Given the description of an element on the screen output the (x, y) to click on. 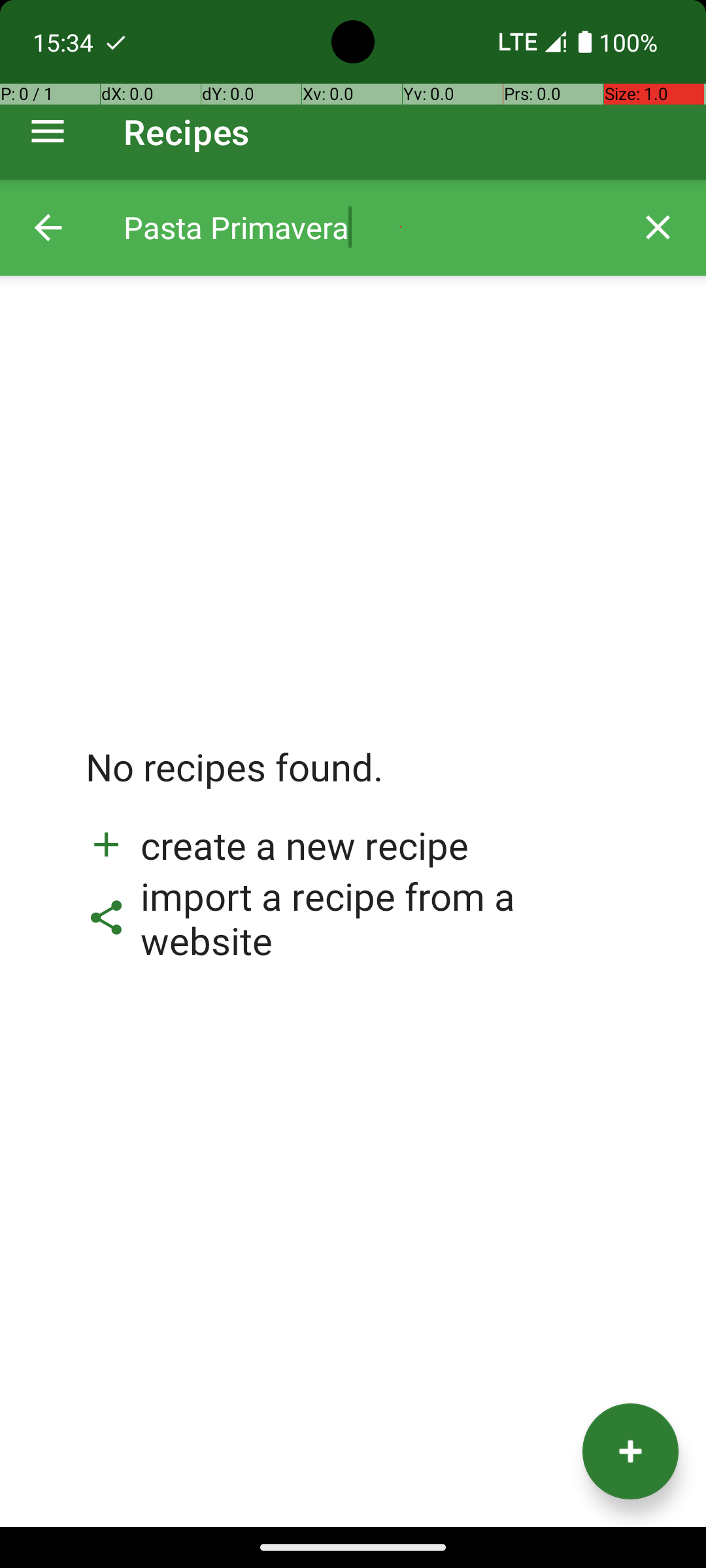
No recipes found. Element type: android.widget.TextView (234, 779)
create a new recipe Element type: android.widget.TextView (276, 844)
import a recipe from a website Element type: android.widget.TextView (352, 917)
Pasta Primavera Element type: android.widget.AutoCompleteTextView (366, 227)
